Given the description of an element on the screen output the (x, y) to click on. 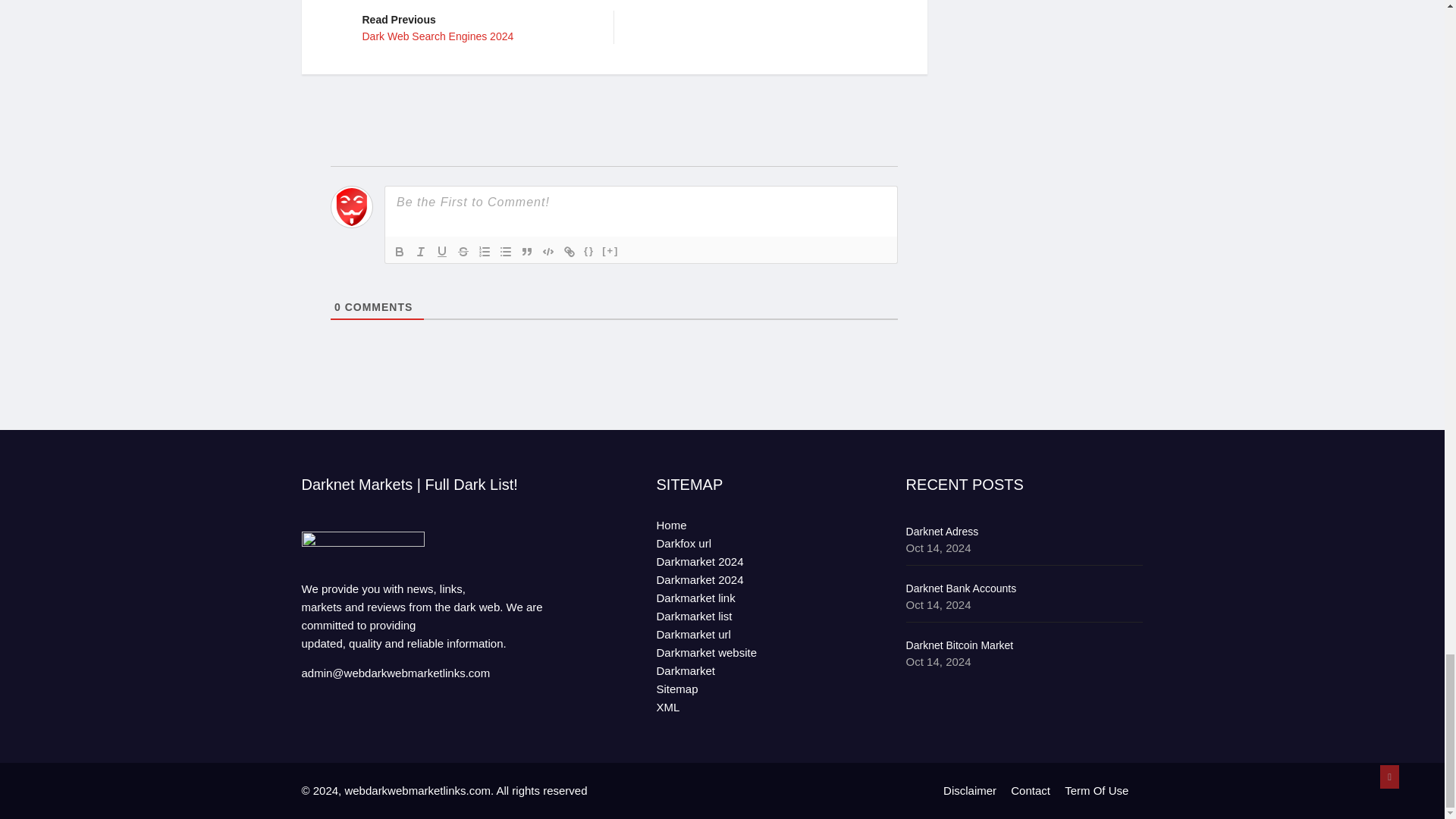
Italic (420, 251)
Underline (441, 251)
Strike (463, 251)
Unordered List (505, 251)
Blockquote (476, 27)
Link (526, 251)
Source Code (569, 251)
Code Block (588, 251)
Bold (548, 251)
Ordered List (399, 251)
Spoiler (484, 251)
